Given the description of an element on the screen output the (x, y) to click on. 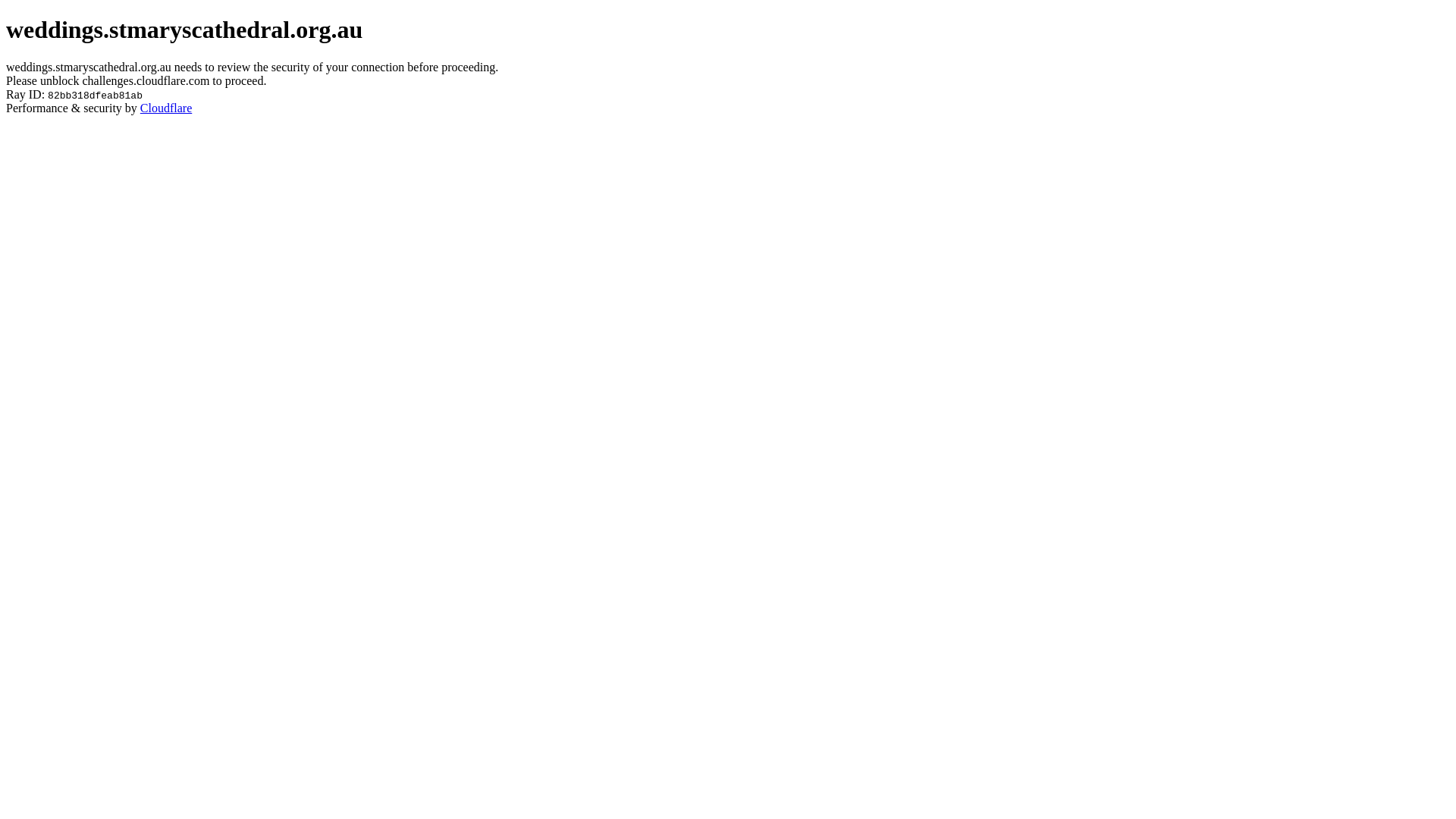
Cloudflare Element type: text (165, 107)
